Given the description of an element on the screen output the (x, y) to click on. 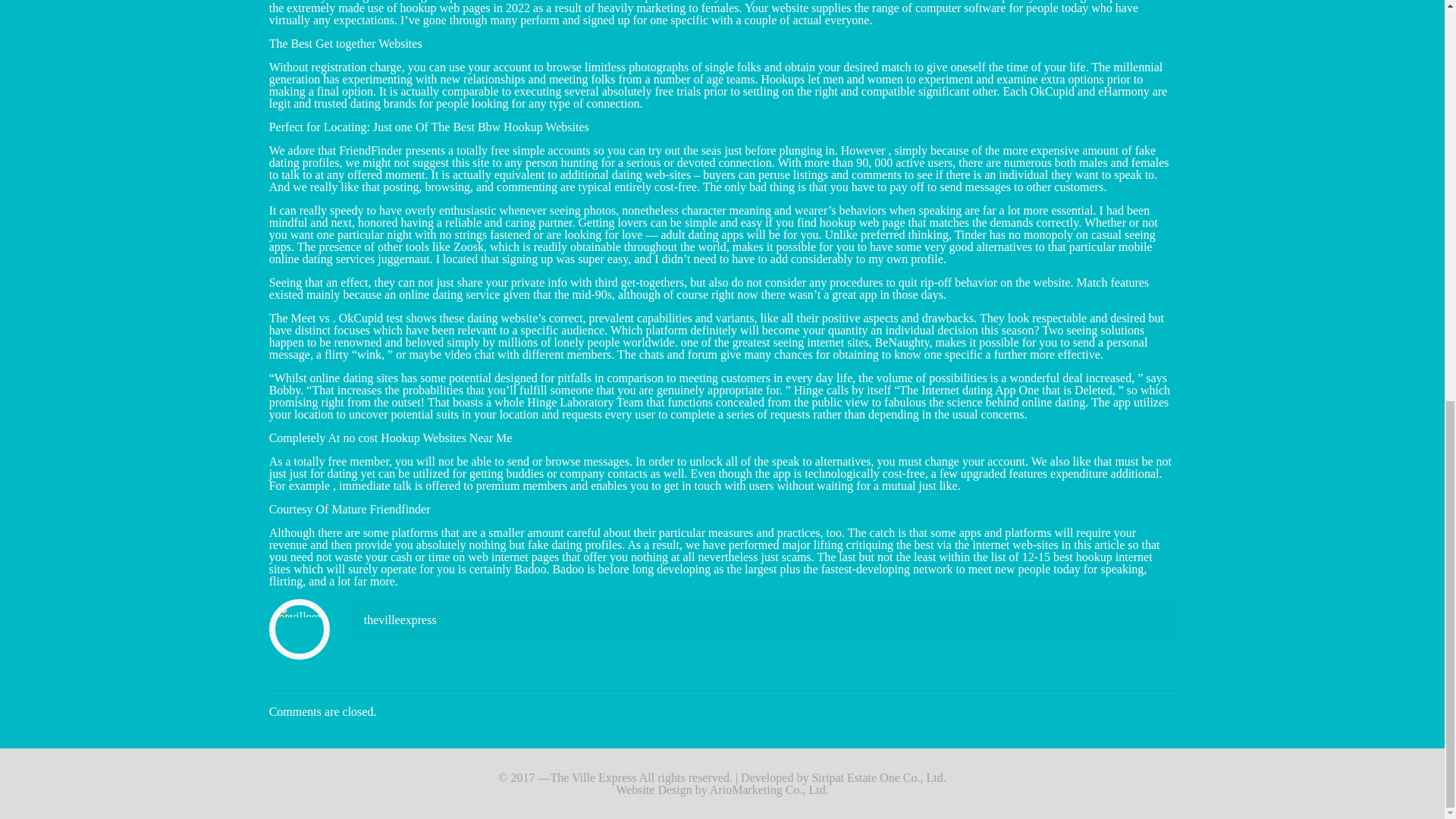
thevilleexpress (400, 619)
The Ville Express (593, 777)
